Given the description of an element on the screen output the (x, y) to click on. 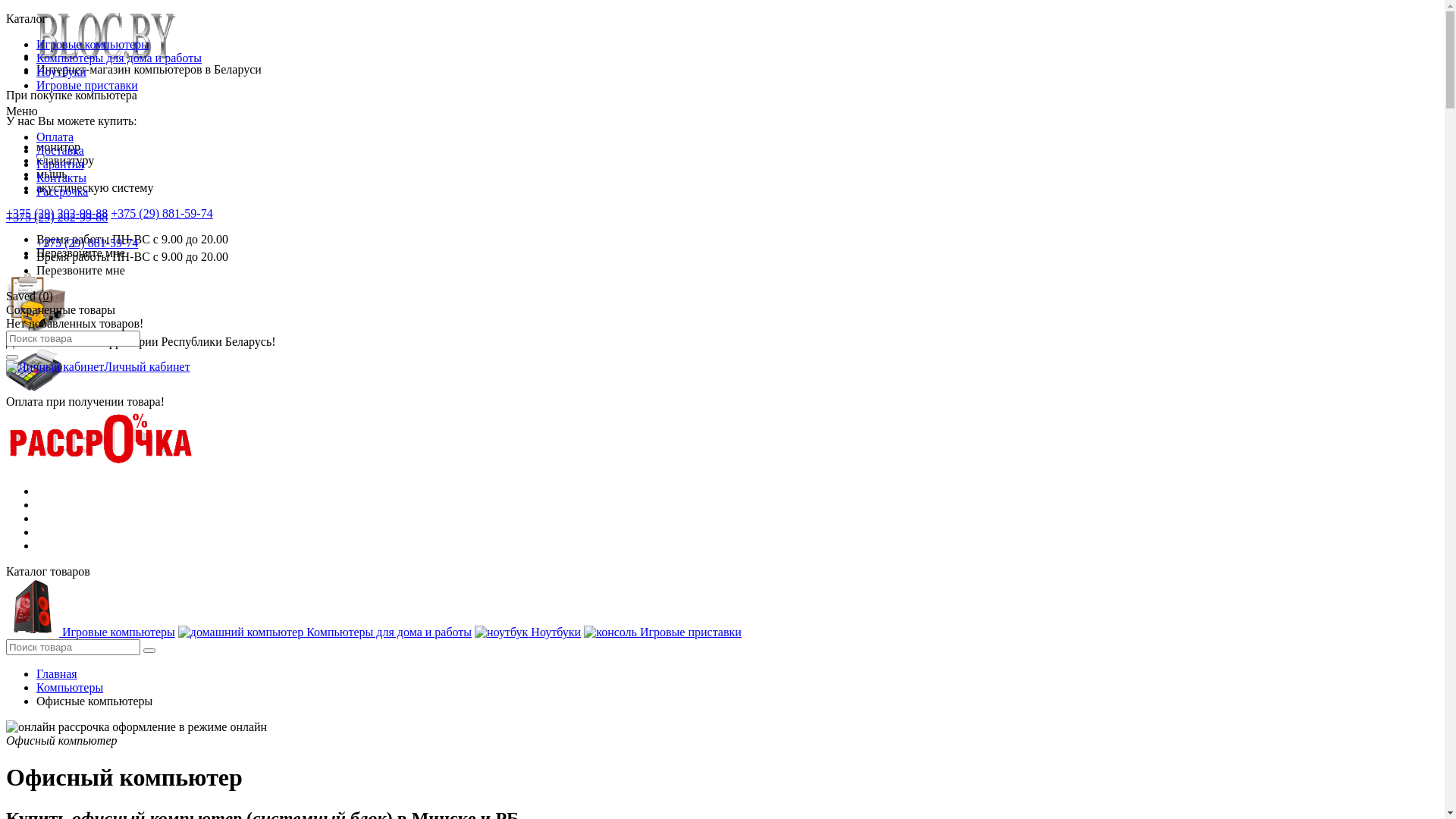
+375 (29) 202-99-88 Element type: text (56, 213)
+375 (29) 881-59-74 Element type: text (87, 242)
+375 (29) 202-99-88 Element type: text (56, 216)
+375 (29) 881-59-74 Element type: text (161, 213)
